Given the description of an element on the screen output the (x, y) to click on. 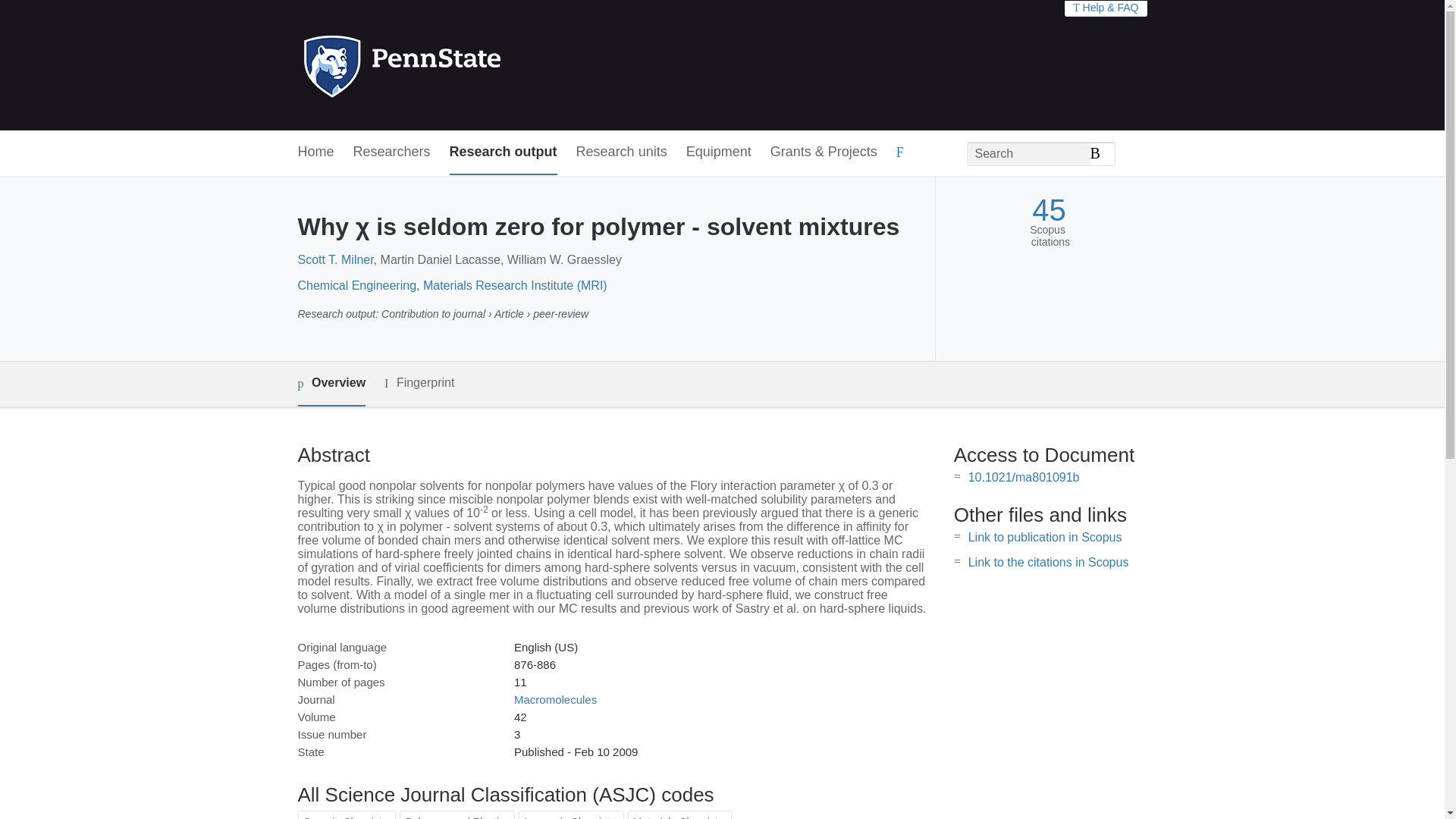
Equipment (718, 152)
Chemical Engineering (356, 285)
Researchers (391, 152)
Macromolecules (554, 698)
Research units (621, 152)
Research output (503, 152)
Overview (331, 383)
Link to the citations in Scopus (1048, 562)
Fingerprint (419, 382)
Penn State Home (467, 65)
45 (1048, 210)
Scott T. Milner (334, 259)
Link to publication in Scopus (1045, 536)
